Given the description of an element on the screen output the (x, y) to click on. 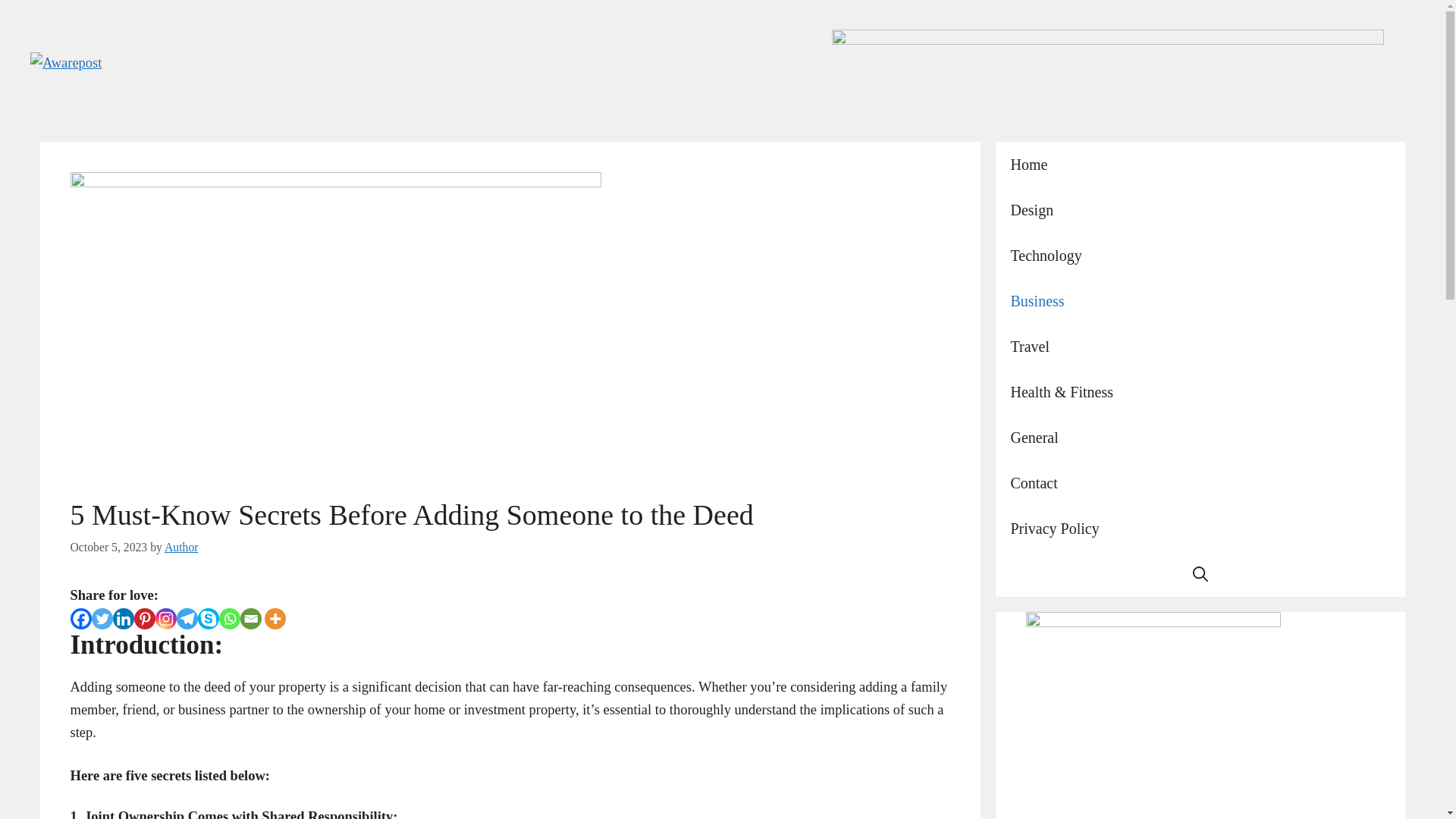
More (274, 618)
Travel (1199, 346)
Technology (1199, 255)
Email (250, 618)
Author (181, 546)
Design (1199, 209)
Business (1199, 300)
Linkedin (122, 618)
Twitter (101, 618)
Telegram (186, 618)
General (1199, 437)
Contact (1199, 483)
Facebook (79, 618)
Pinterest (143, 618)
Home (1199, 164)
